Given the description of an element on the screen output the (x, y) to click on. 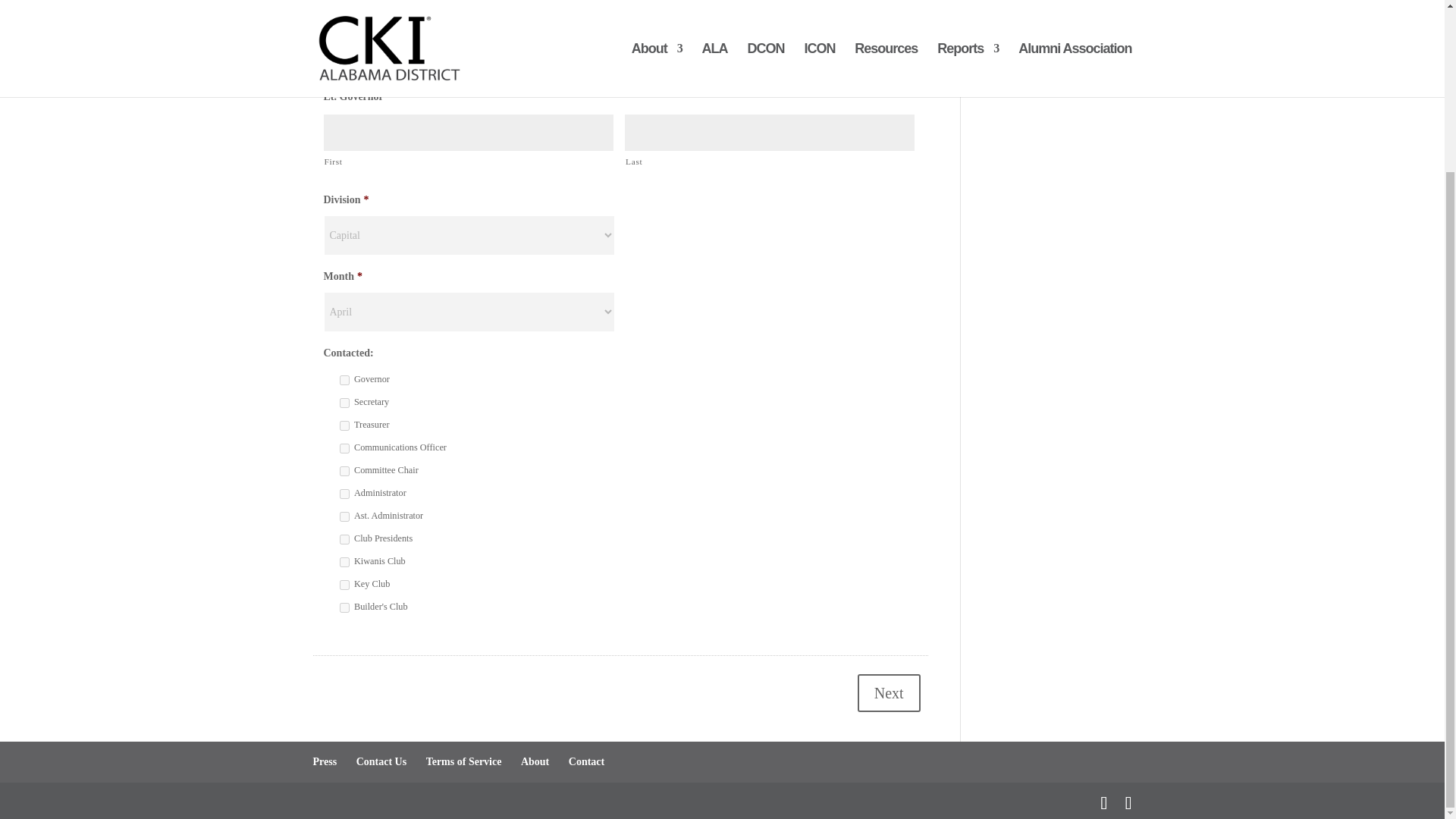
Builder's Club (344, 607)
Ast. Administrator (344, 516)
Treasurer (344, 425)
Secretary (344, 402)
Next (888, 692)
Key Club (344, 584)
Committee Chair (344, 470)
Communications Officer (344, 448)
Kiwanis Club (344, 562)
Administrator (344, 493)
